Given the description of an element on the screen output the (x, y) to click on. 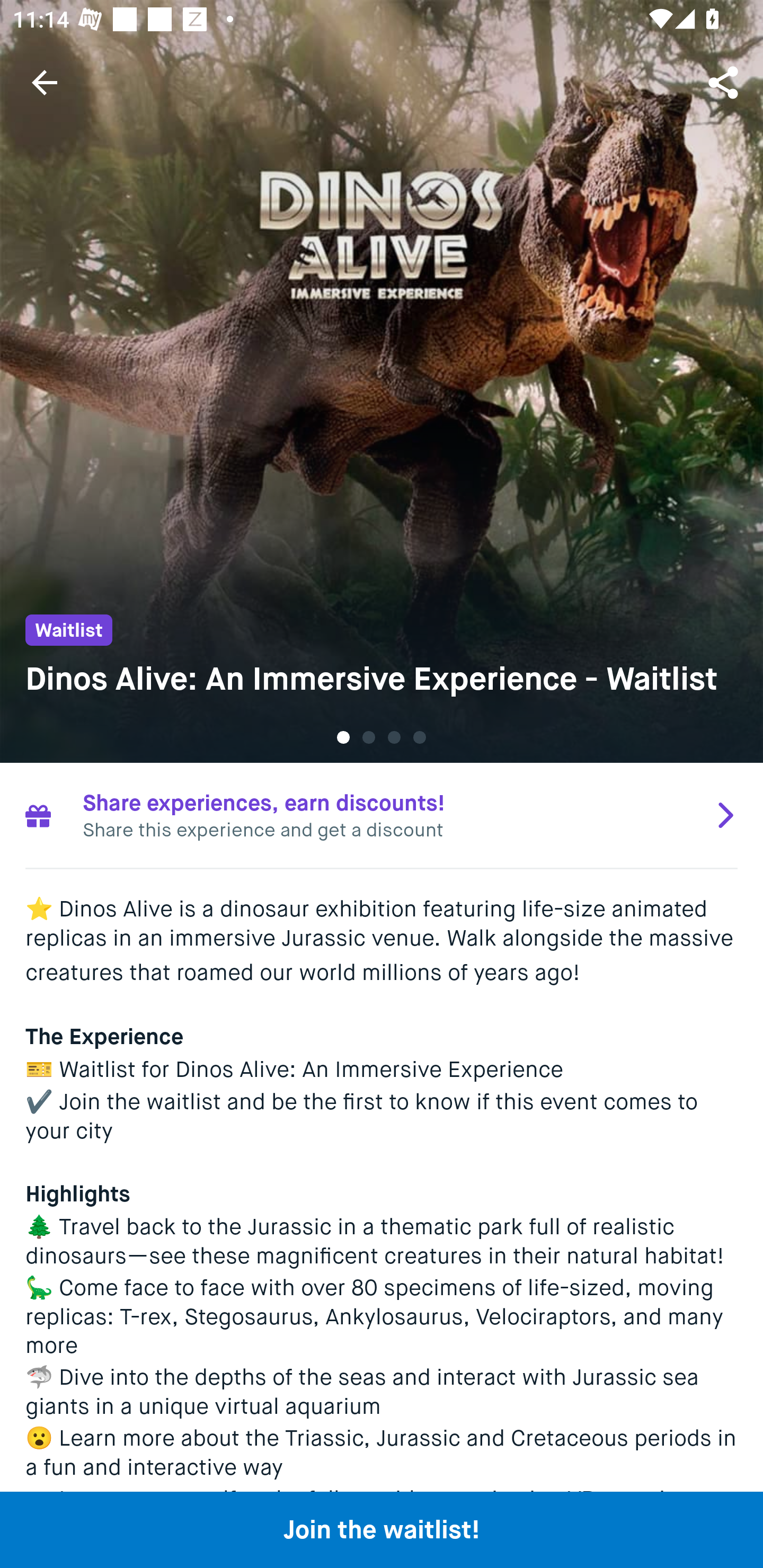
Navigate up (44, 82)
Share (724, 81)
Join the waitlist! (381, 1529)
